Given the description of an element on the screen output the (x, y) to click on. 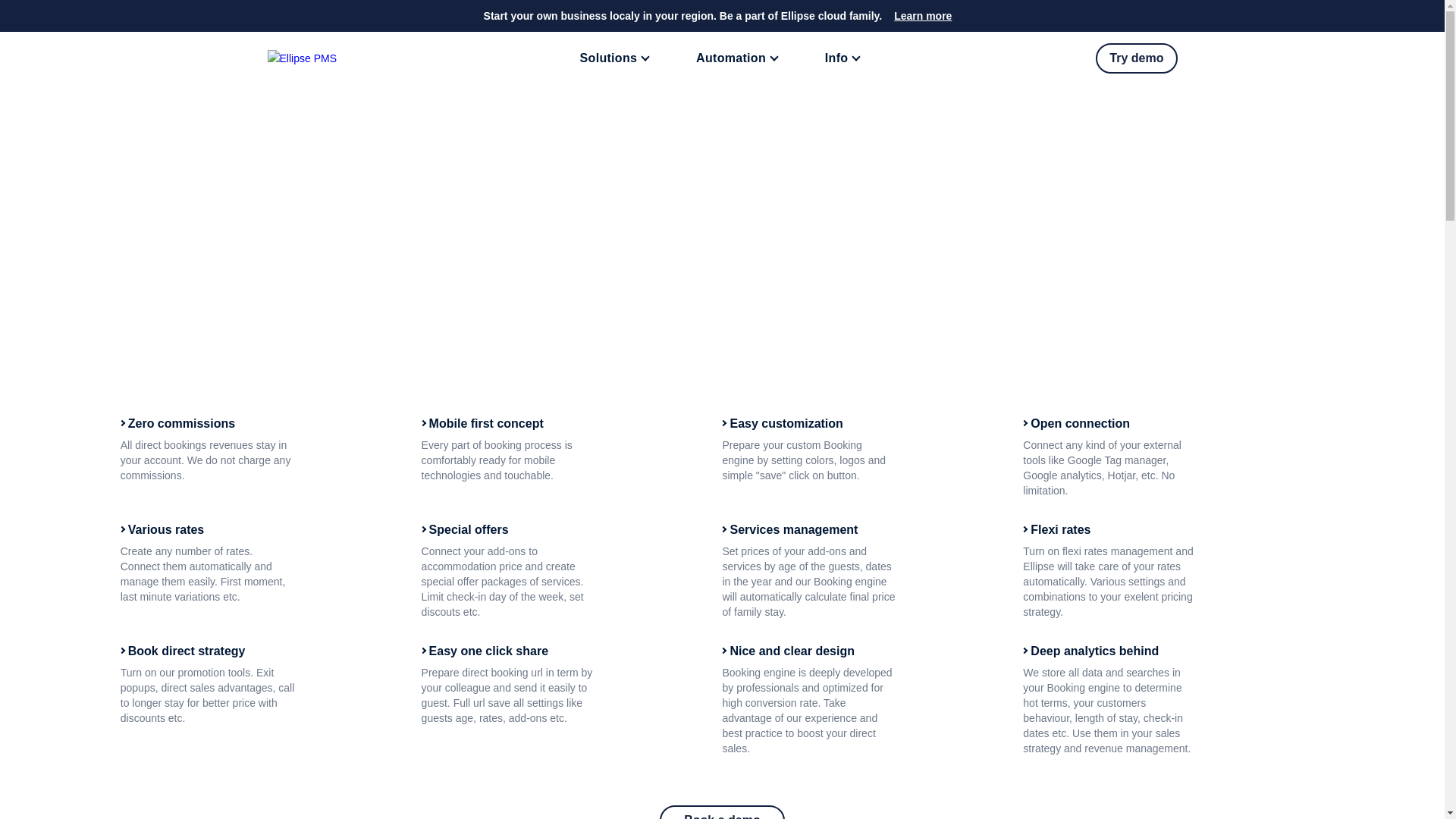
Info (845, 58)
Learn more (922, 15)
Try demo (1136, 58)
Solutions (617, 58)
Automation (739, 58)
Book a demo (721, 812)
